Given the description of an element on the screen output the (x, y) to click on. 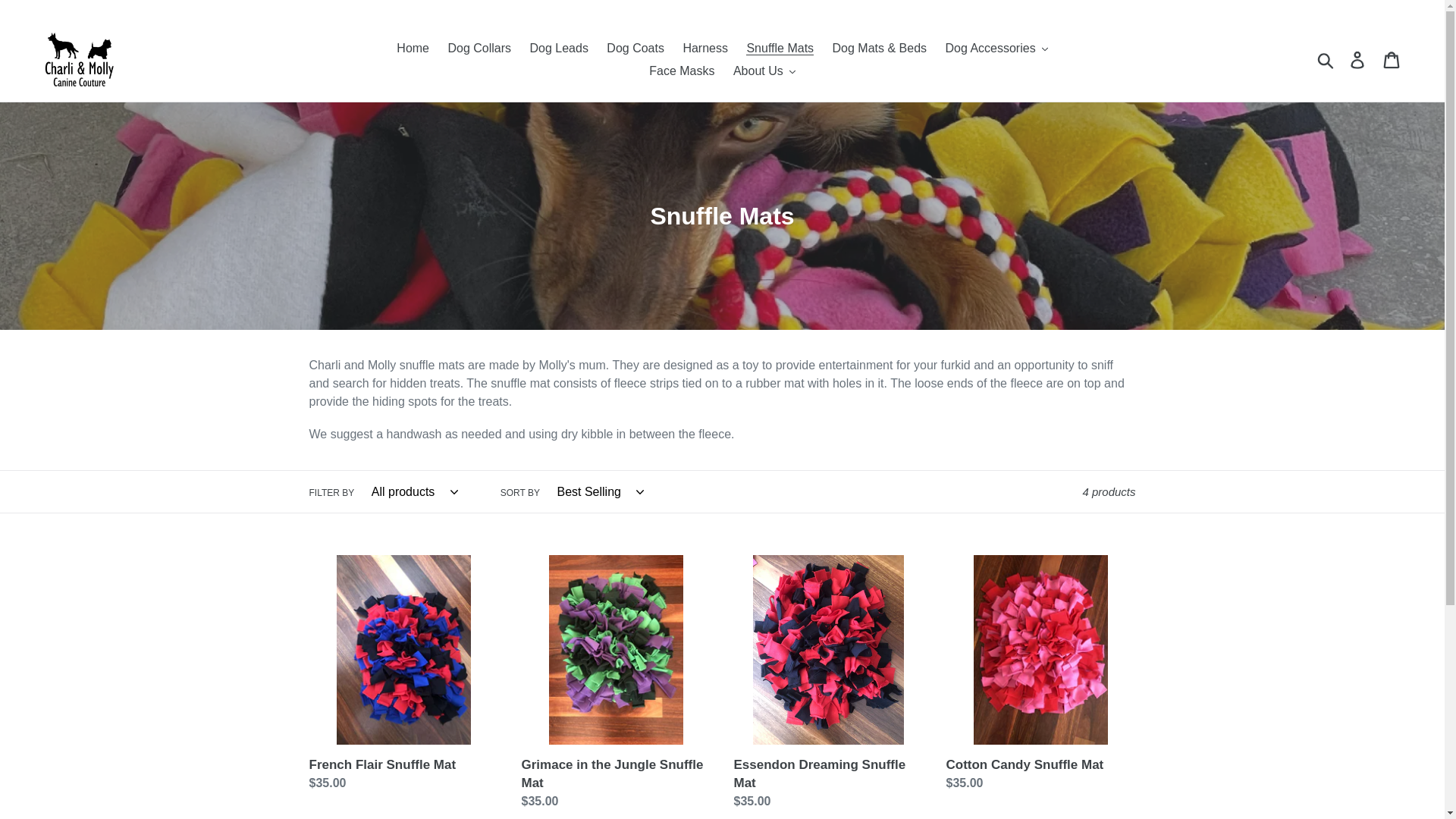
Snuffle Mats (779, 47)
Log in (1357, 59)
Submit (1326, 59)
Home (412, 47)
Harness (705, 47)
Face Masks (682, 70)
Dog Coats (634, 47)
Dog Collars (478, 47)
Cart (1392, 59)
Dog Leads (558, 47)
